Given the description of an element on the screen output the (x, y) to click on. 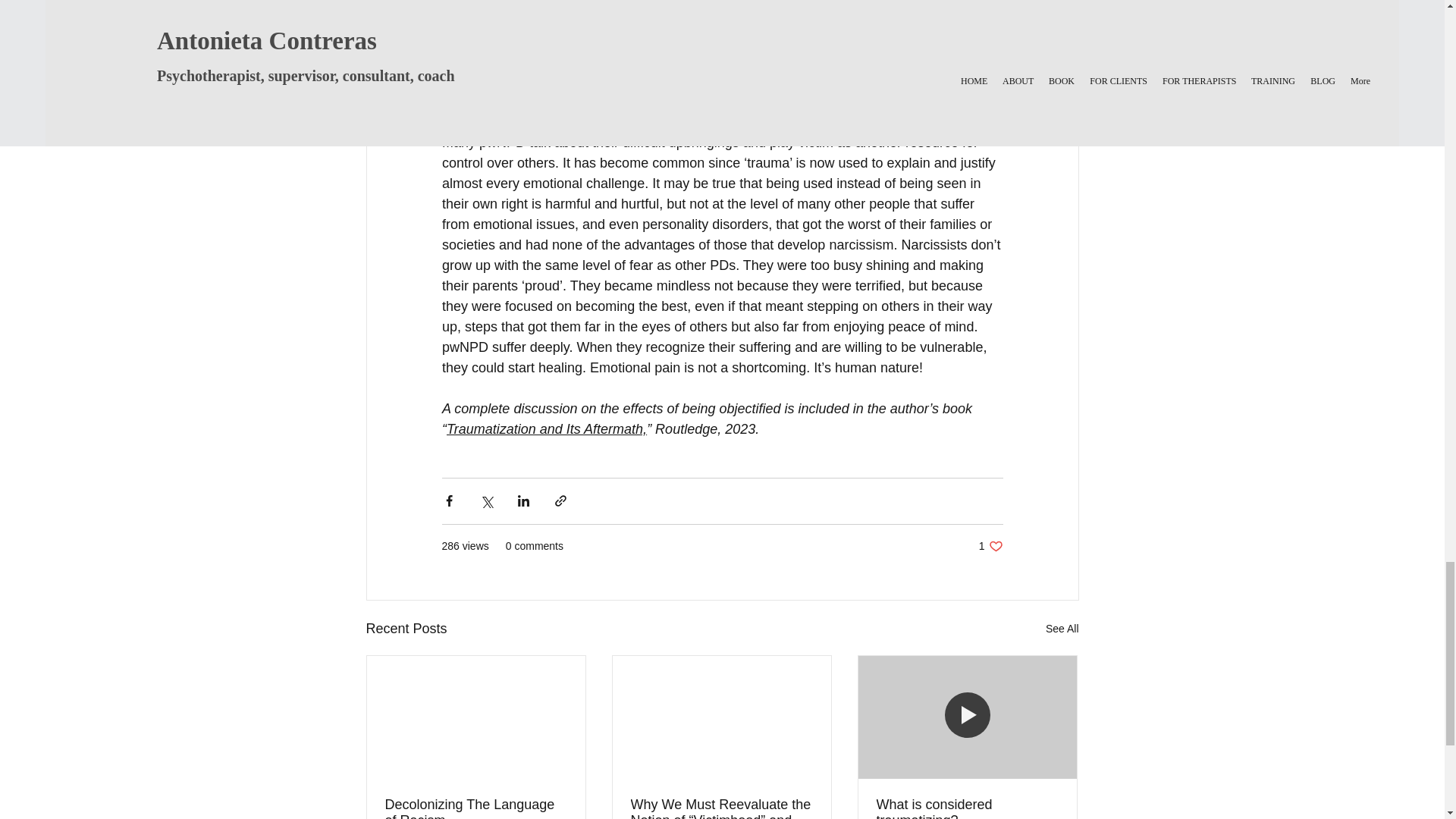
Traumatization and Its Aftermath, (545, 428)
Decolonizing The Language of Racism (476, 807)
See All (990, 545)
